Given the description of an element on the screen output the (x, y) to click on. 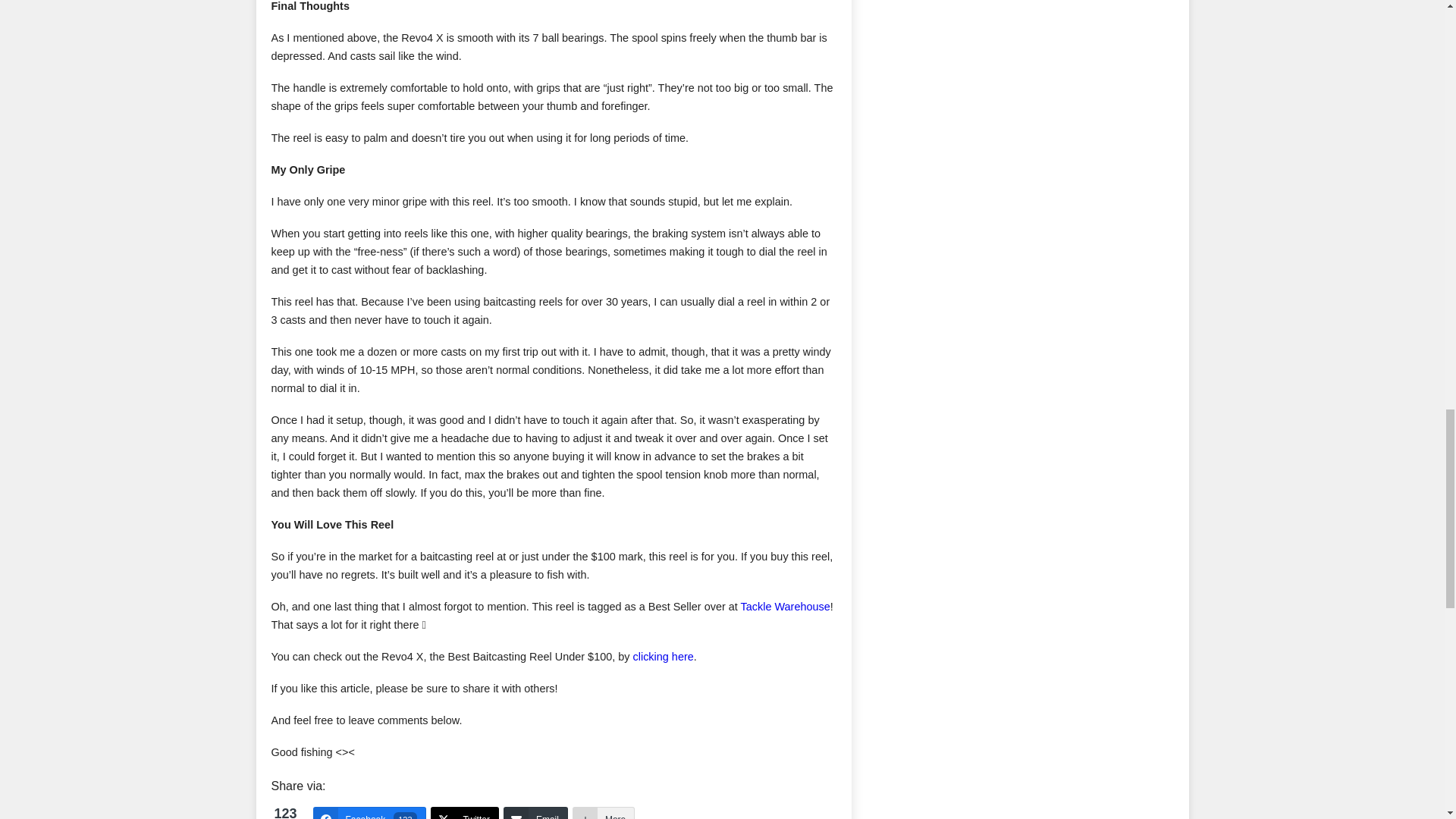
Tackle Warehouse (785, 606)
Email (535, 812)
clicking here (663, 656)
Twitter (369, 812)
More (464, 812)
